Given the description of an element on the screen output the (x, y) to click on. 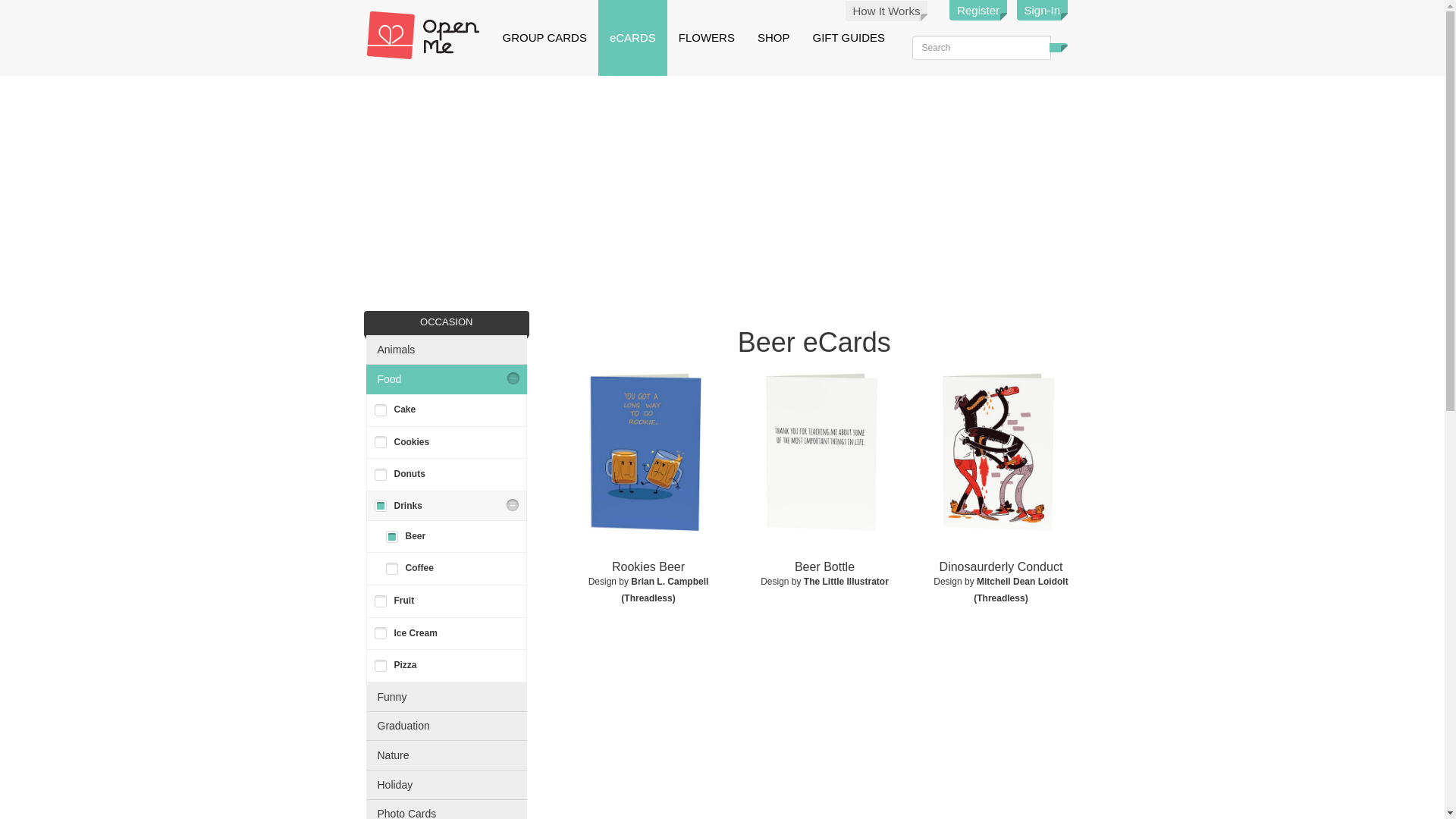
eCARDS (632, 38)
SHOP (773, 38)
GIFT GUIDES (848, 38)
Enter the terms you wish to search for. (980, 47)
Home (427, 34)
GROUP CARDS (545, 38)
FLOWERS (705, 38)
